Given the description of an element on the screen output the (x, y) to click on. 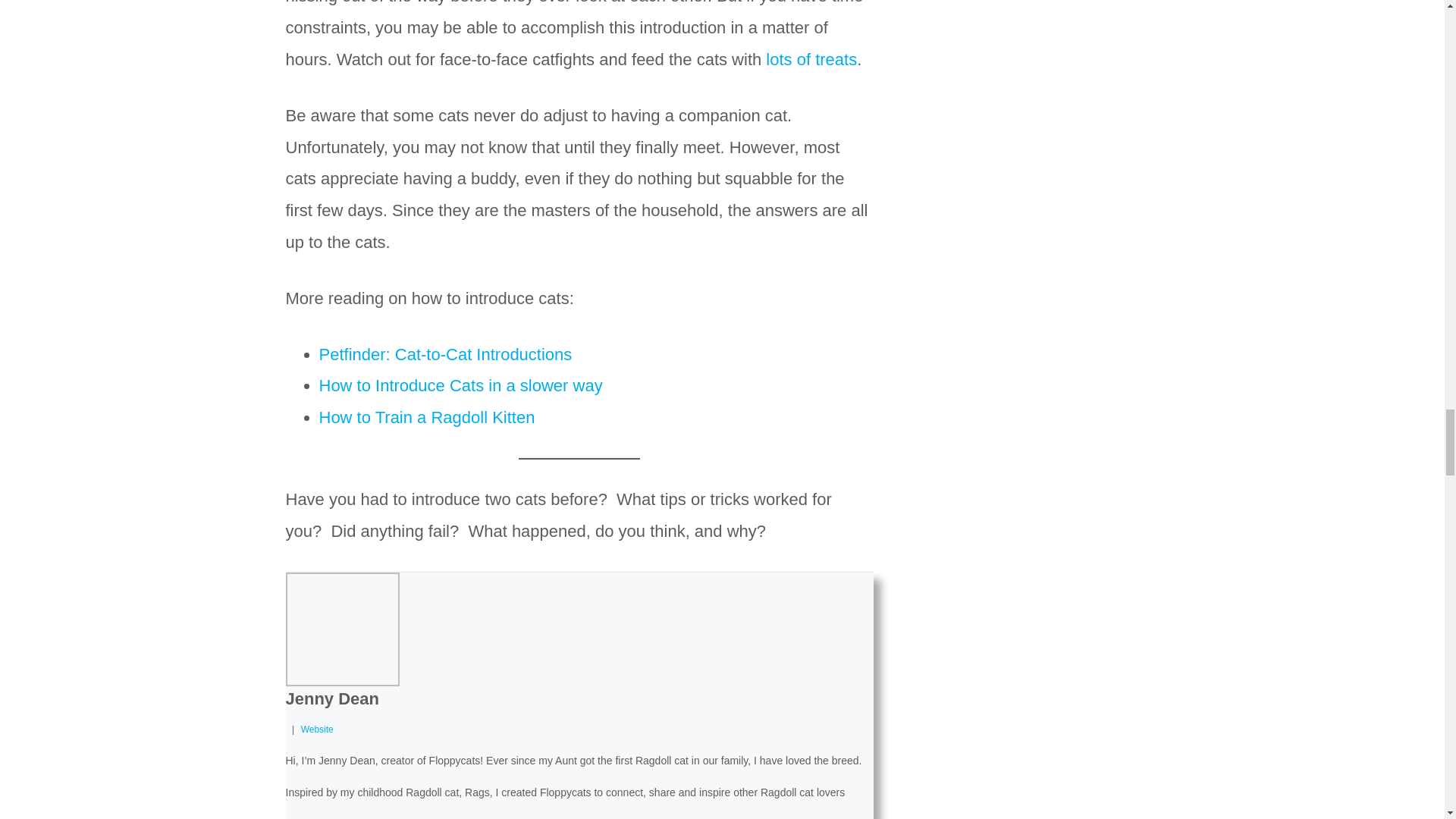
lots of treats (811, 58)
Petfinder: Cat-to-Cat Introductions (445, 353)
How to Train a Ragdoll Kitten (426, 416)
Jenny Dean (331, 698)
Website (317, 728)
How to Introduce Cats in a slower way (460, 384)
